Given the description of an element on the screen output the (x, y) to click on. 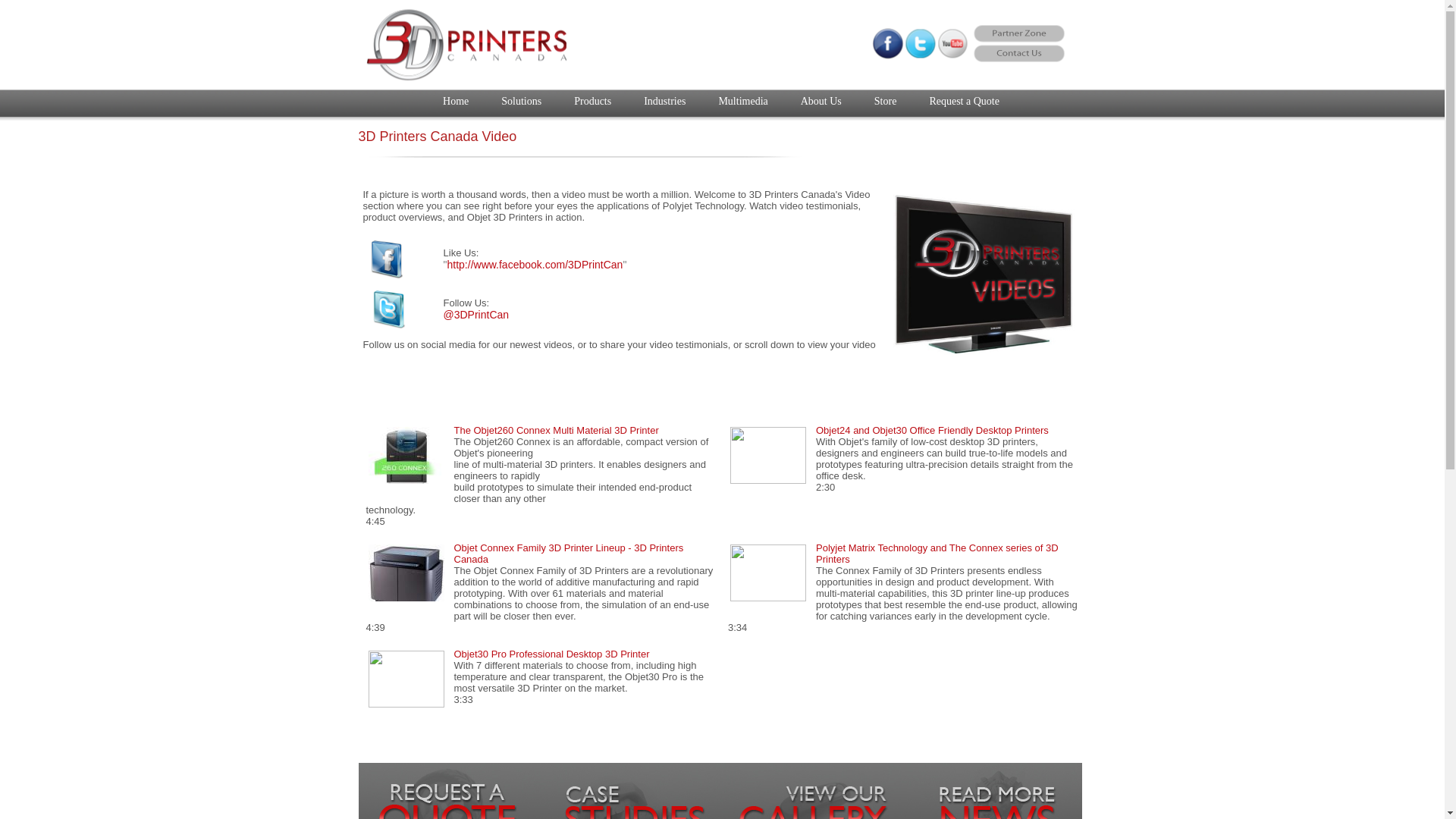
Objet Connex Family 3D Printer Lineup - 3D Printers Canada Element type: text (568, 553)
Store Element type: text (885, 101)
Solutions Element type: text (521, 101)
Objet24 and Objet30 Office Friendly Desktop Printers Element type: text (931, 430)
Home Element type: text (455, 101)
Request a Quote Element type: text (963, 101)
Industries Element type: text (664, 101)
http://www.facebook.com/3DPrintCan Element type: text (535, 264)
About Us Element type: text (820, 101)
The Objet260 Connex Multi Material 3D Printer Element type: text (555, 430)
Products Element type: text (592, 101)
Objet30 Pro Professional Desktop 3D Printer Element type: text (551, 653)
@3DPrintCan Element type: text (476, 315)
Multimedia Element type: text (742, 101)
